Given the description of an element on the screen output the (x, y) to click on. 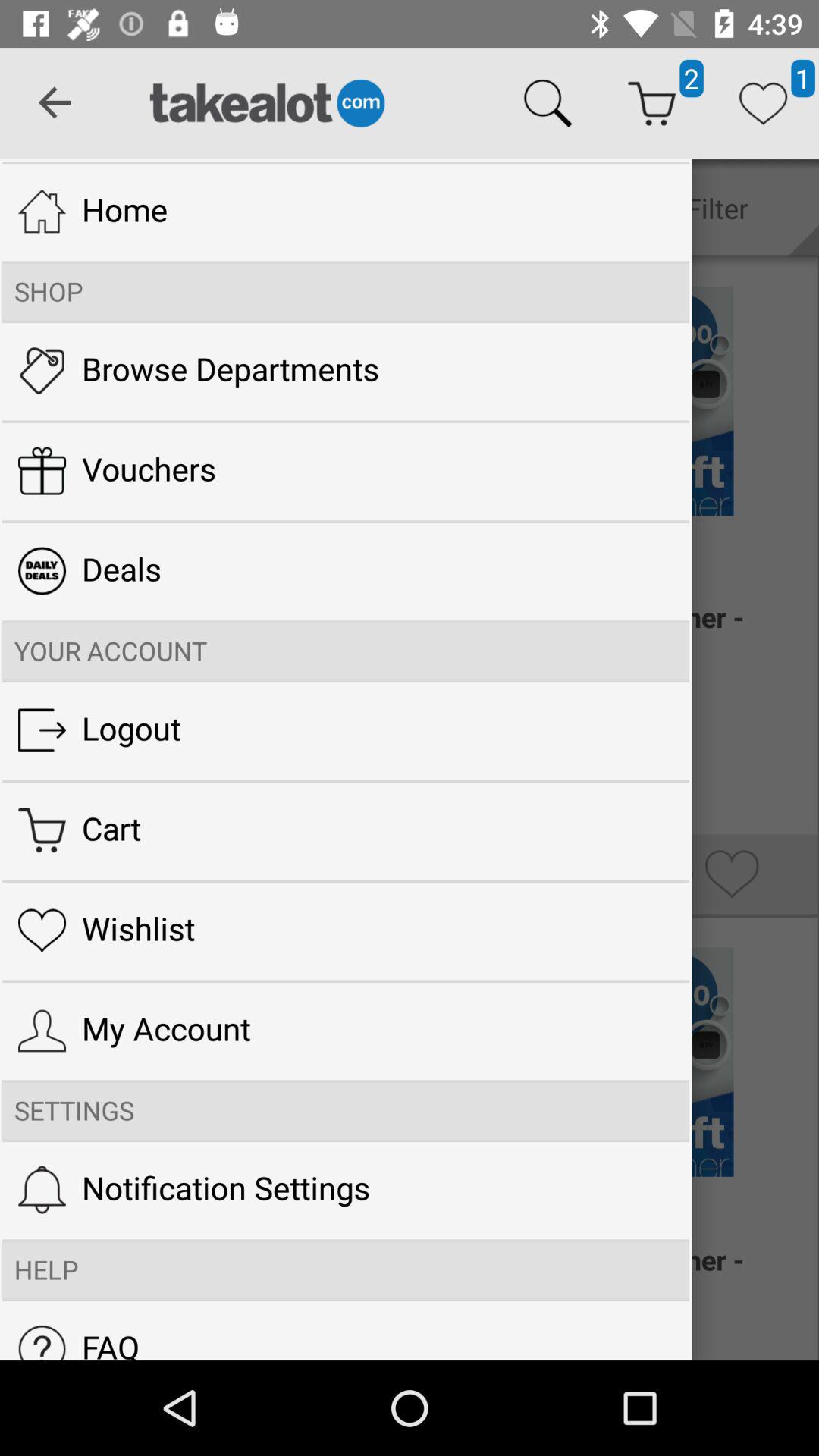
select the logo which is before my account (42, 1030)
click on the icon which is at top right of the page (763, 103)
click on the bell icon (42, 1190)
